Given the description of an element on the screen output the (x, y) to click on. 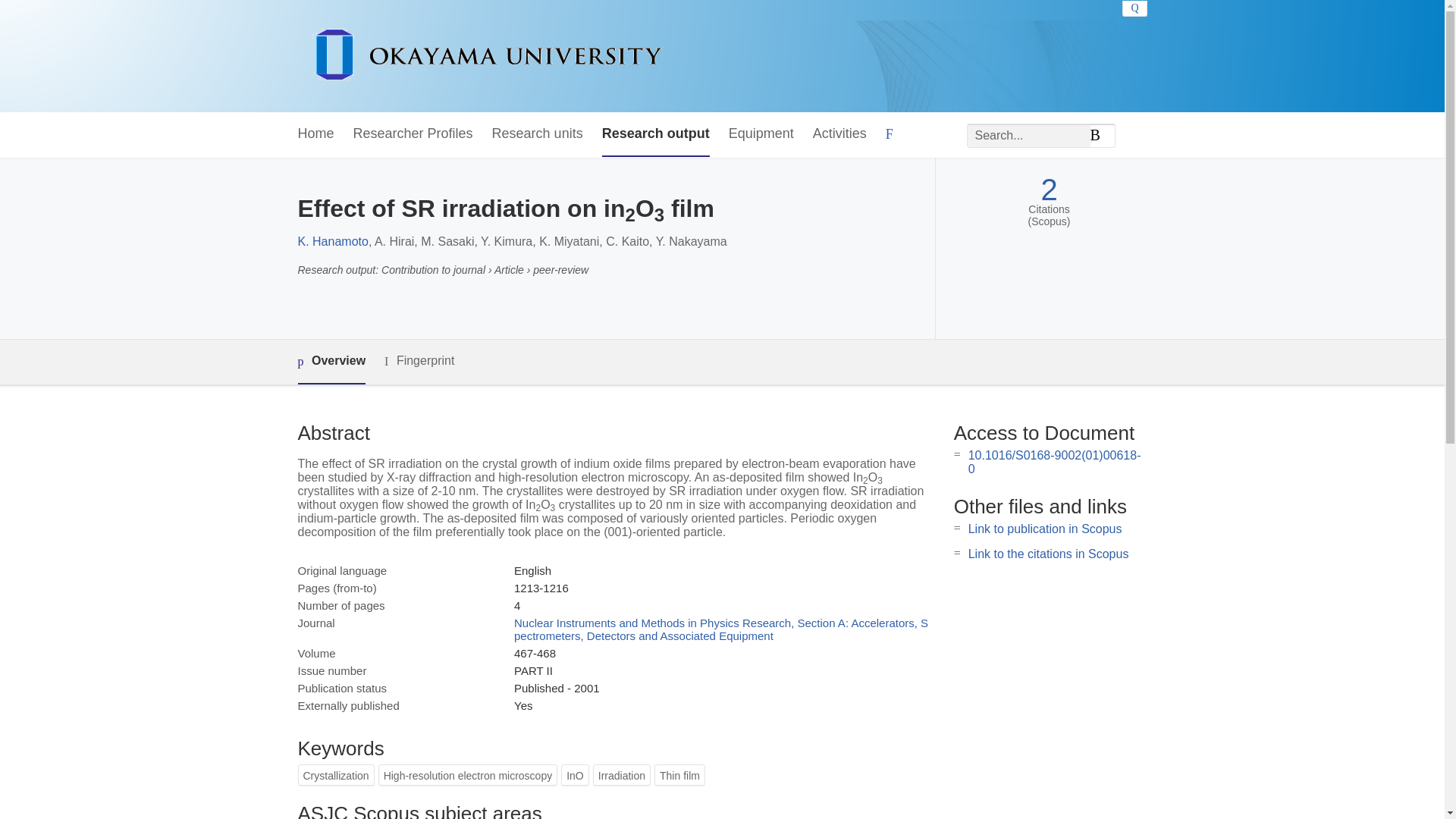
Activities (839, 134)
K. Hanamoto (332, 241)
Okayama University Home (487, 55)
Overview (331, 361)
Equipment (761, 134)
Research output (656, 134)
Link to publication in Scopus (1045, 528)
Fingerprint (419, 361)
Research units (537, 134)
